Given the description of an element on the screen output the (x, y) to click on. 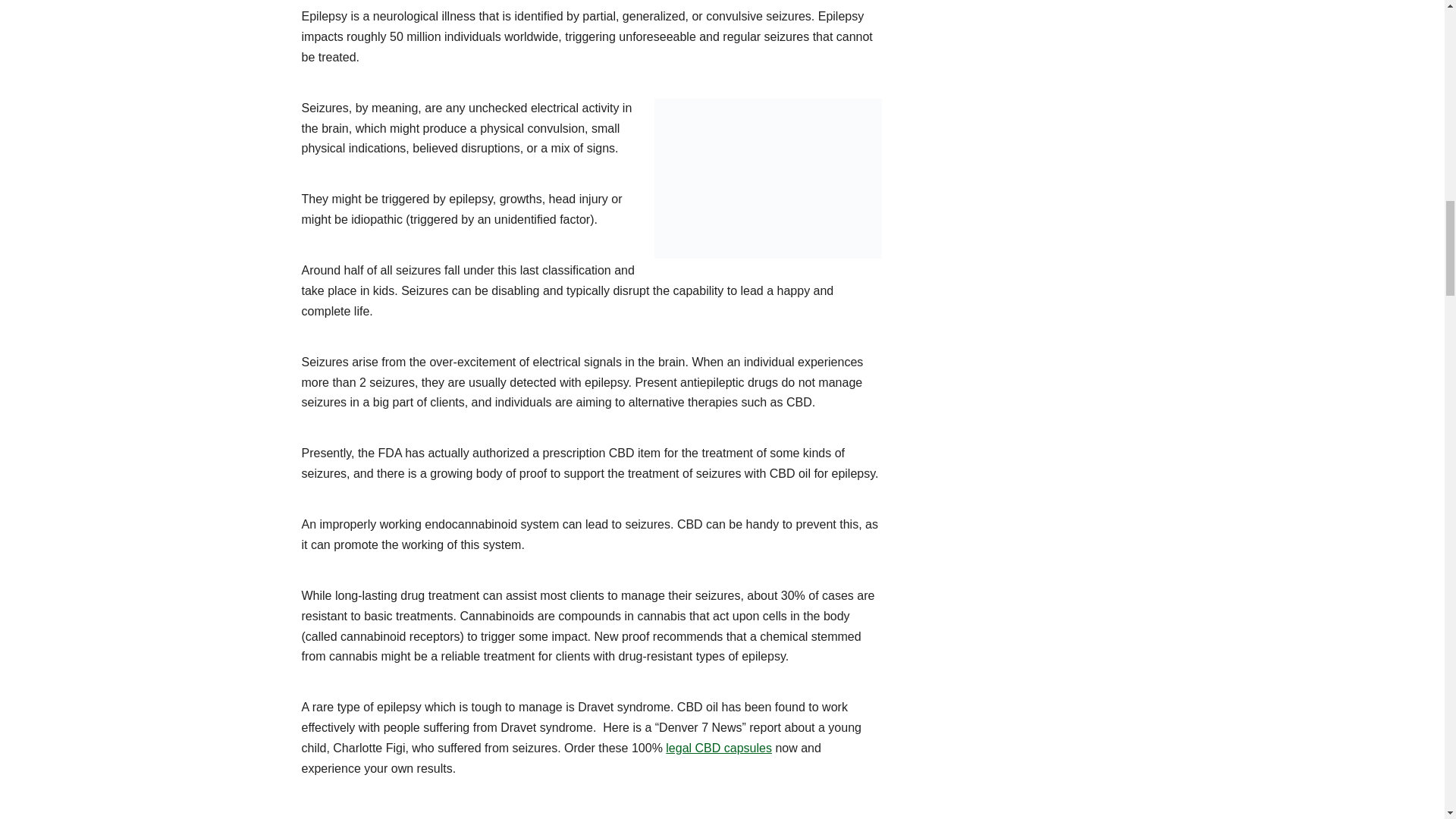
CBD Oil For Epilepsy Seizures  (766, 178)
